Given the description of an element on the screen output the (x, y) to click on. 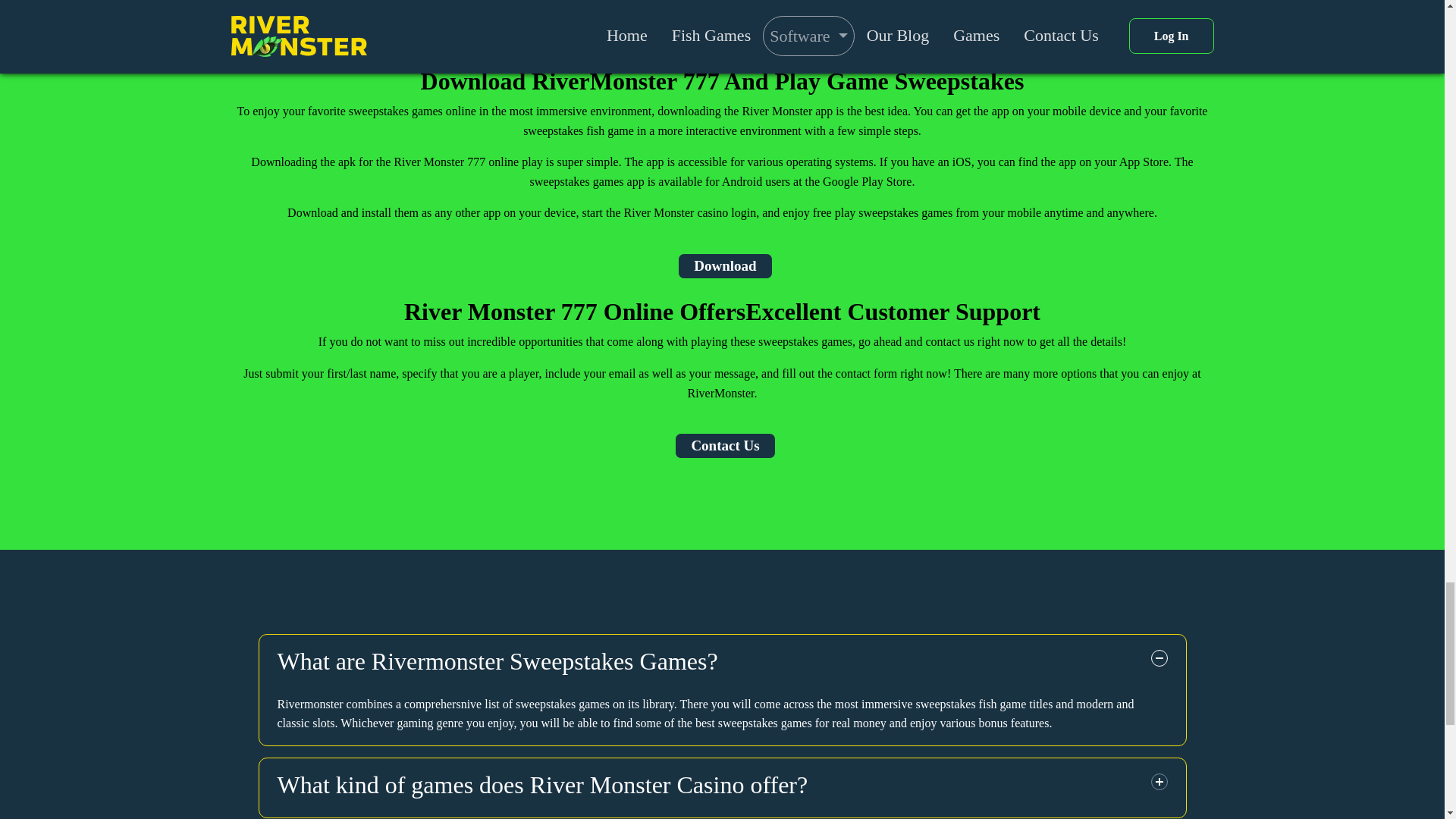
What are Rivermonster Sweepstakes Games? (722, 663)
Contact Us (724, 445)
Download (724, 266)
What kind of games does River Monster Casino offer? (722, 787)
